Given the description of an element on the screen output the (x, y) to click on. 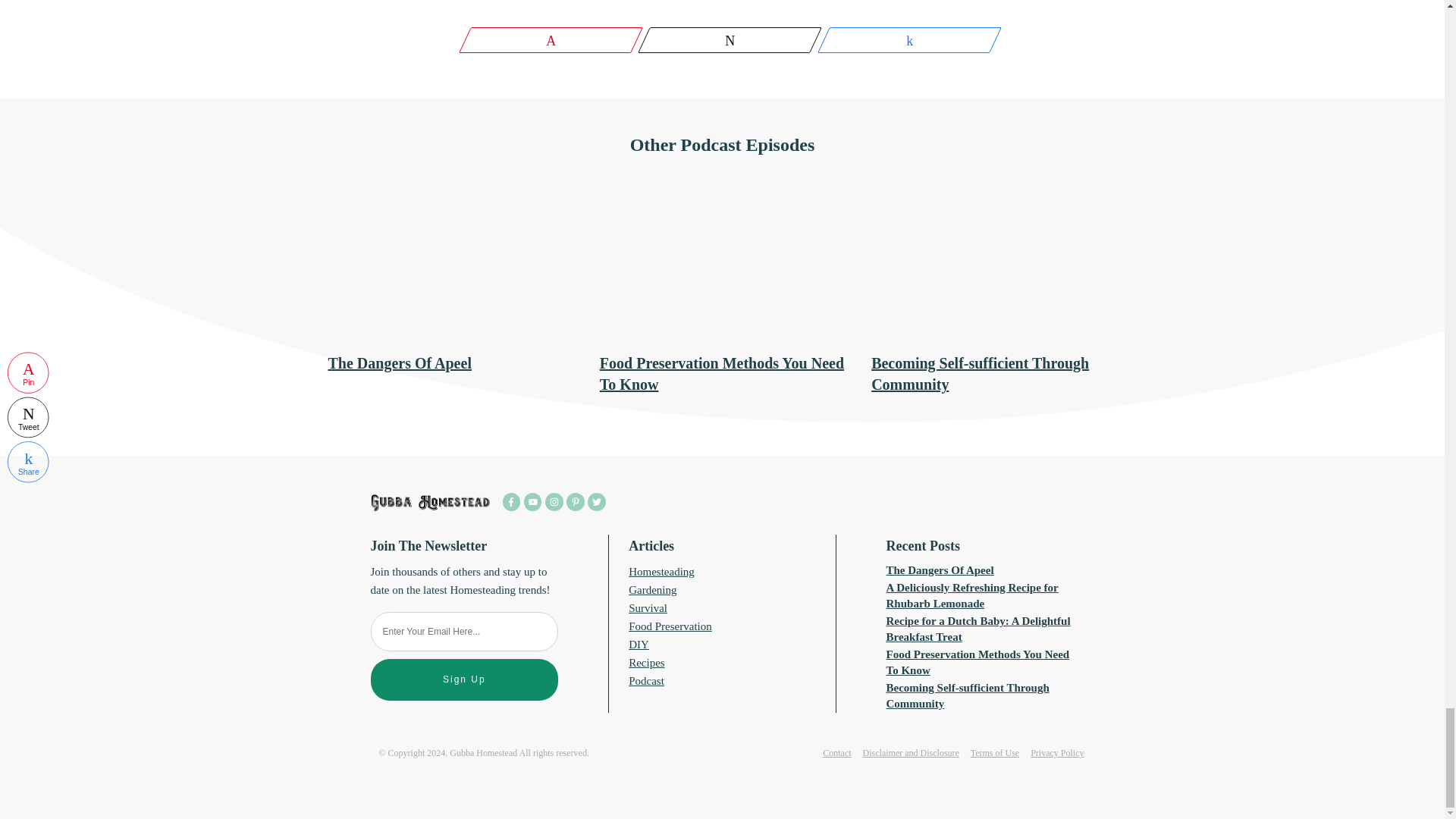
The Dangers Of Apeel (398, 362)
gubba-homestead-logo-flat (429, 502)
Food Preservation Methods You Need To Know (978, 662)
The Dangers Of Apeel (398, 362)
A Deliciously Refreshing Recipe for Rhubarb Lemonade (972, 595)
Becoming Self-sufficient Through Community (979, 373)
Recipe for a Dutch Baby: A Delightful Breakfast Treat (978, 628)
DIY (638, 644)
Survival (647, 607)
Food Preservation Methods You Need To Know (721, 373)
Homesteading (661, 571)
Gardening (652, 589)
Food Preservation Methods You Need To Know (721, 373)
Recipes (645, 662)
Becoming Self-sufficient Through Community (967, 695)
